Given the description of an element on the screen output the (x, y) to click on. 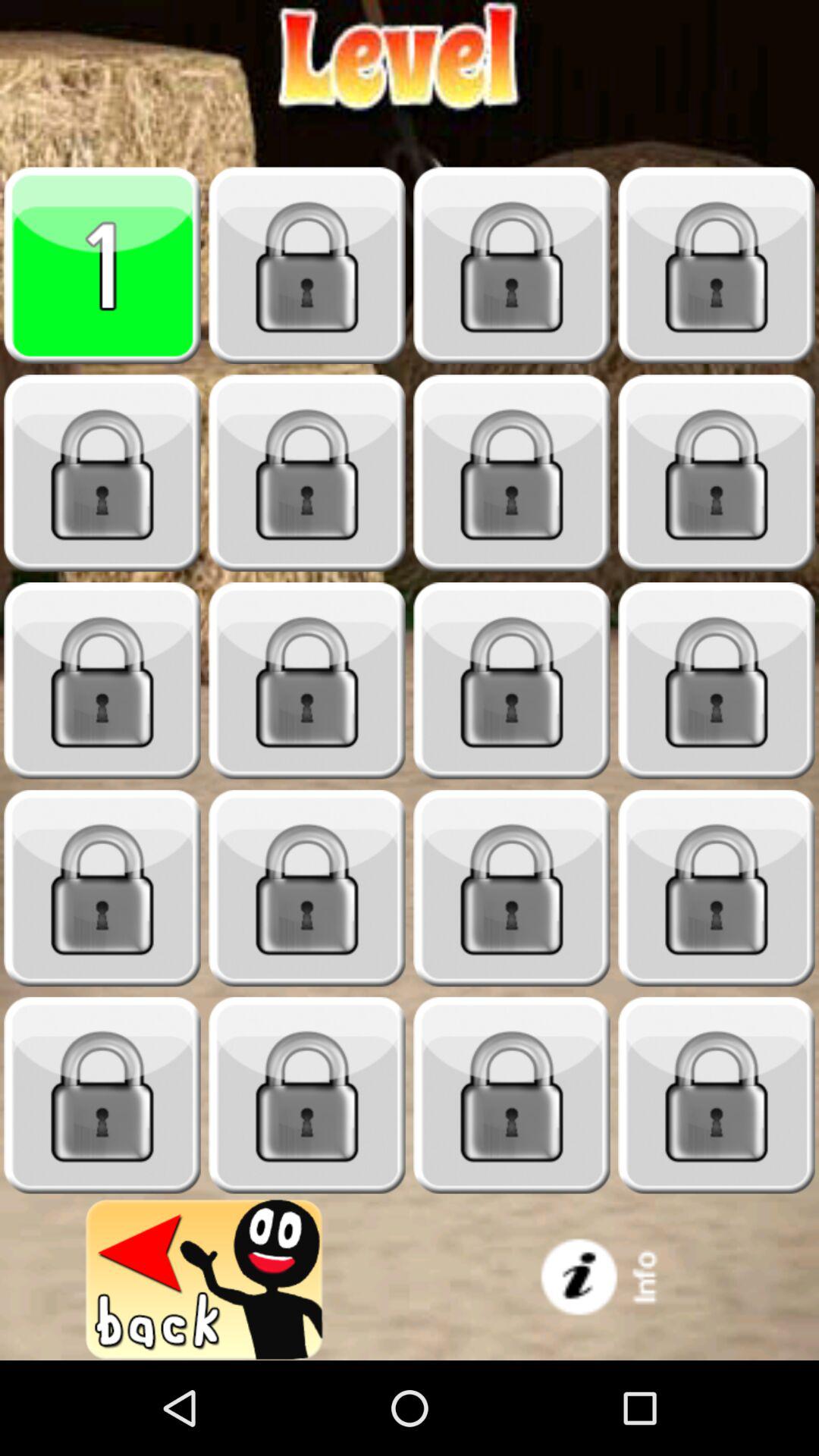
go to level (306, 473)
